Given the description of an element on the screen output the (x, y) to click on. 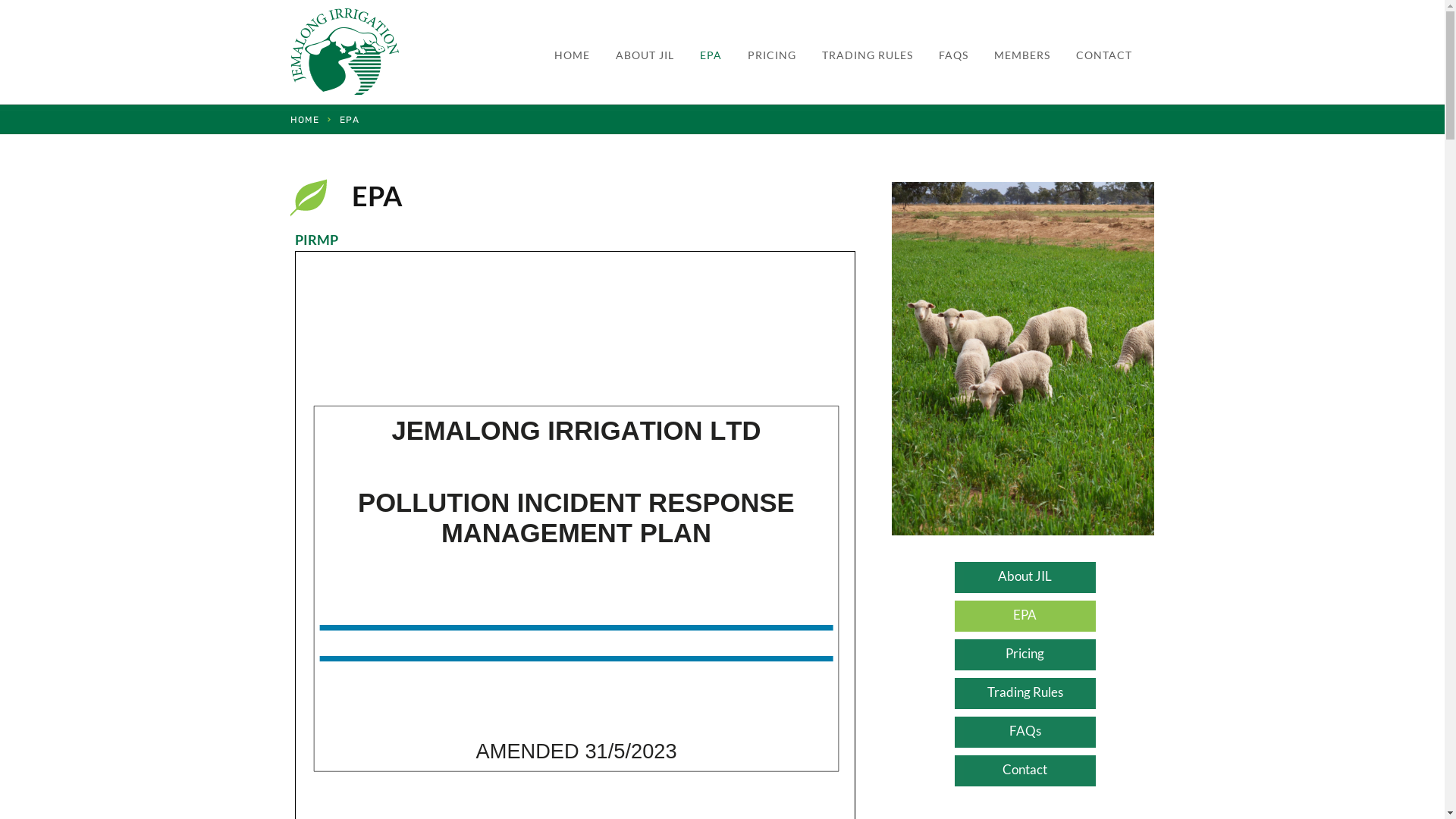
Contact Element type: text (1024, 770)
Pricing Element type: text (1024, 654)
TRADING RULES Element type: text (867, 54)
PRICING Element type: text (771, 54)
Trading Rules Element type: text (1024, 693)
FAQS Element type: text (953, 54)
EPA Element type: text (710, 54)
CONTACT Element type: text (1103, 54)
FAQs Element type: text (1024, 731)
ABOUT JIL Element type: text (644, 54)
About JIL Element type: text (1024, 577)
HOME Element type: text (303, 119)
HOME Element type: text (571, 54)
MEMBERS Element type: text (1021, 54)
EPA Element type: text (1024, 615)
